Given the description of an element on the screen output the (x, y) to click on. 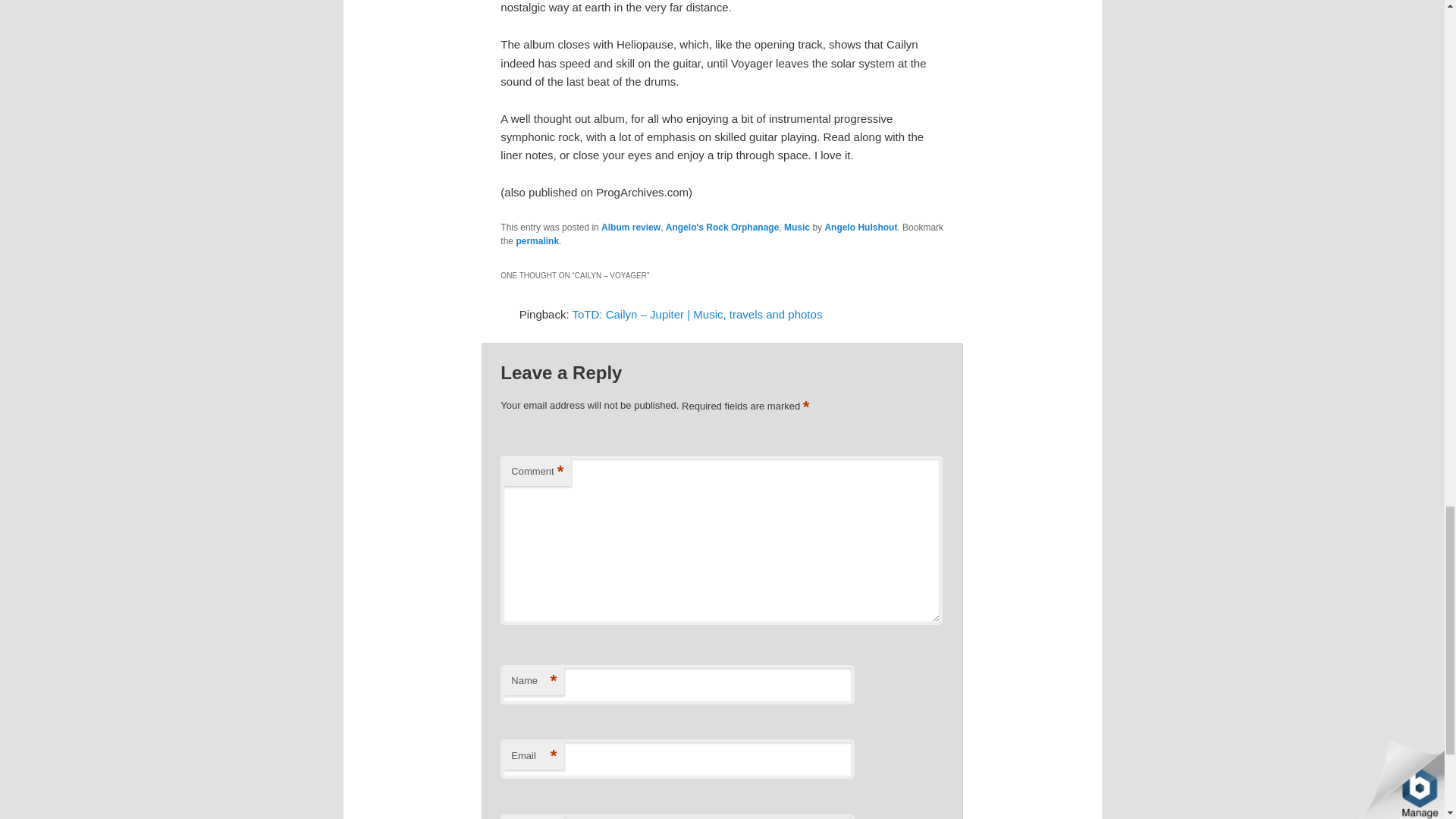
Music (796, 226)
Angelo Hulshout (860, 226)
Angelo's Rock Orphanage (721, 226)
permalink (537, 240)
Album review (631, 226)
